Given the description of an element on the screen output the (x, y) to click on. 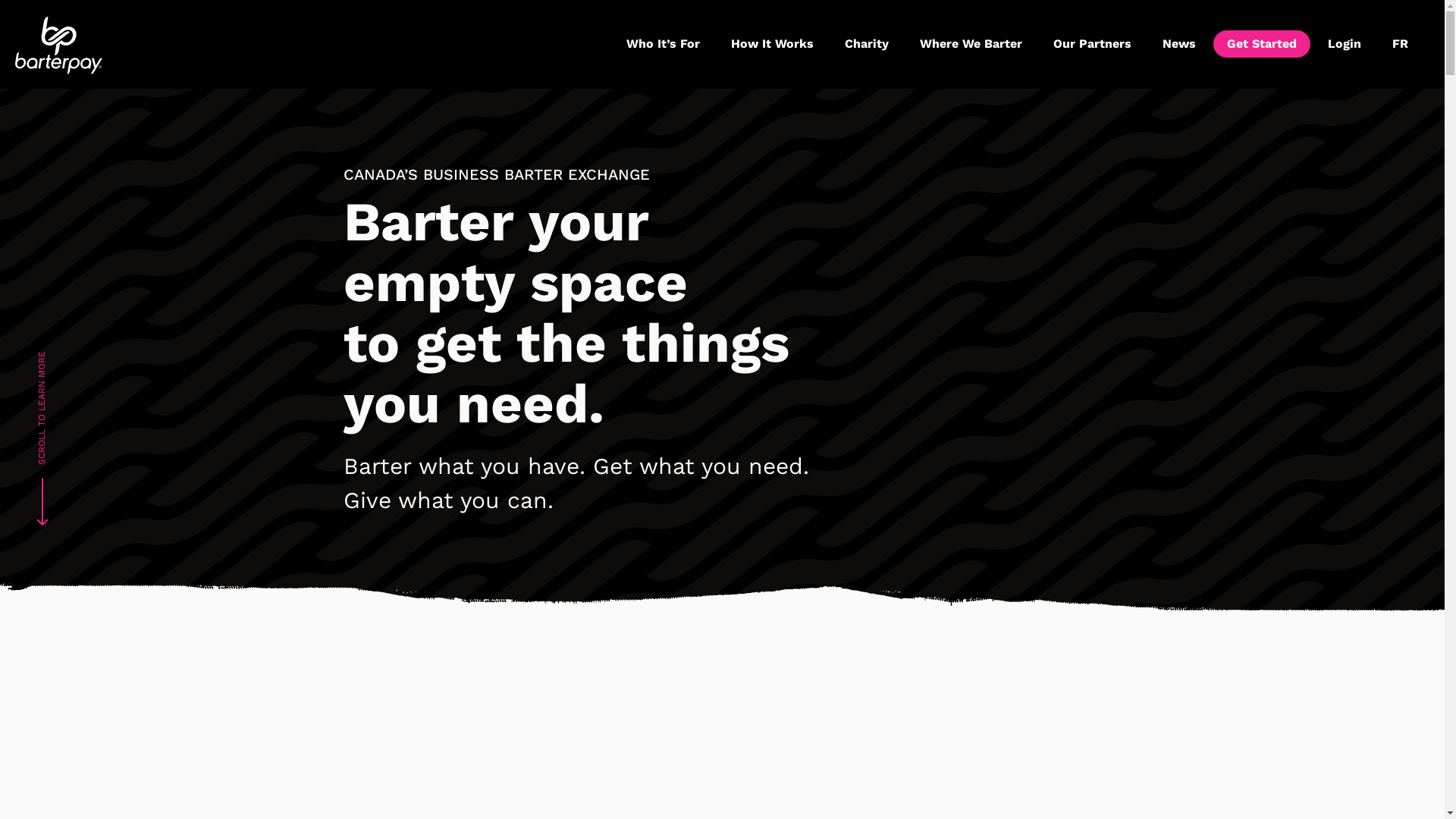
SCROLL TO LEARN MORE Element type: text (105, 373)
Skip to primary navigation Element type: text (0, 0)
Our Partners Element type: text (1092, 44)
How It Works Element type: text (772, 44)
Login Element type: text (1344, 44)
FR Element type: text (1399, 44)
News Element type: text (1178, 44)
Get Started Element type: text (1261, 43)
Where We Barter Element type: text (970, 44)
Charity Element type: text (866, 44)
